Given the description of an element on the screen output the (x, y) to click on. 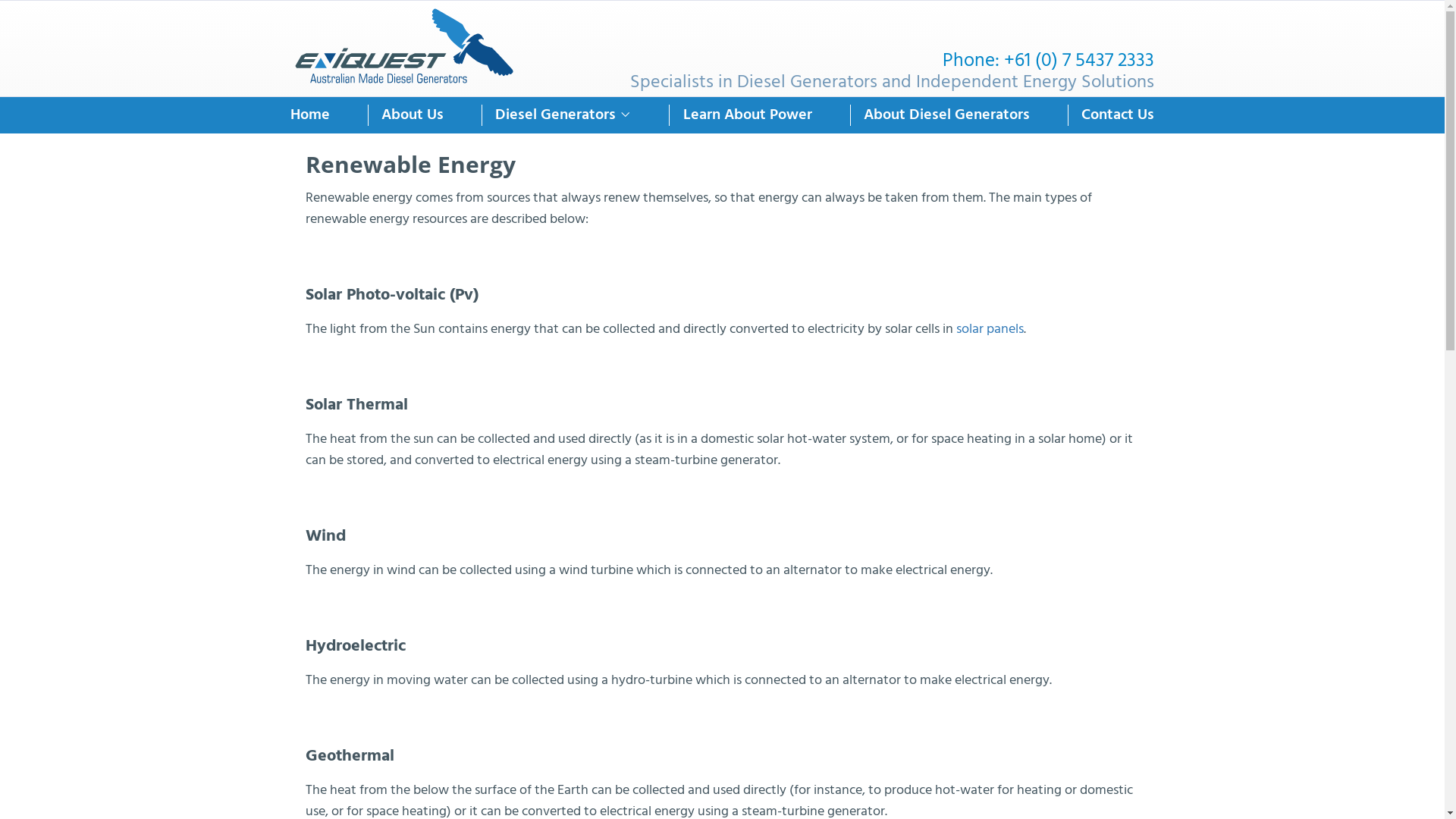
solar panels Element type: text (988, 329)
Home Element type: text (309, 114)
Diesel Generators Element type: text (555, 114)
Learn About Power Element type: text (747, 114)
Contact Us Element type: text (1117, 114)
About Diesel Generators Element type: text (946, 114)
About Us Element type: text (412, 114)
